Given the description of an element on the screen output the (x, y) to click on. 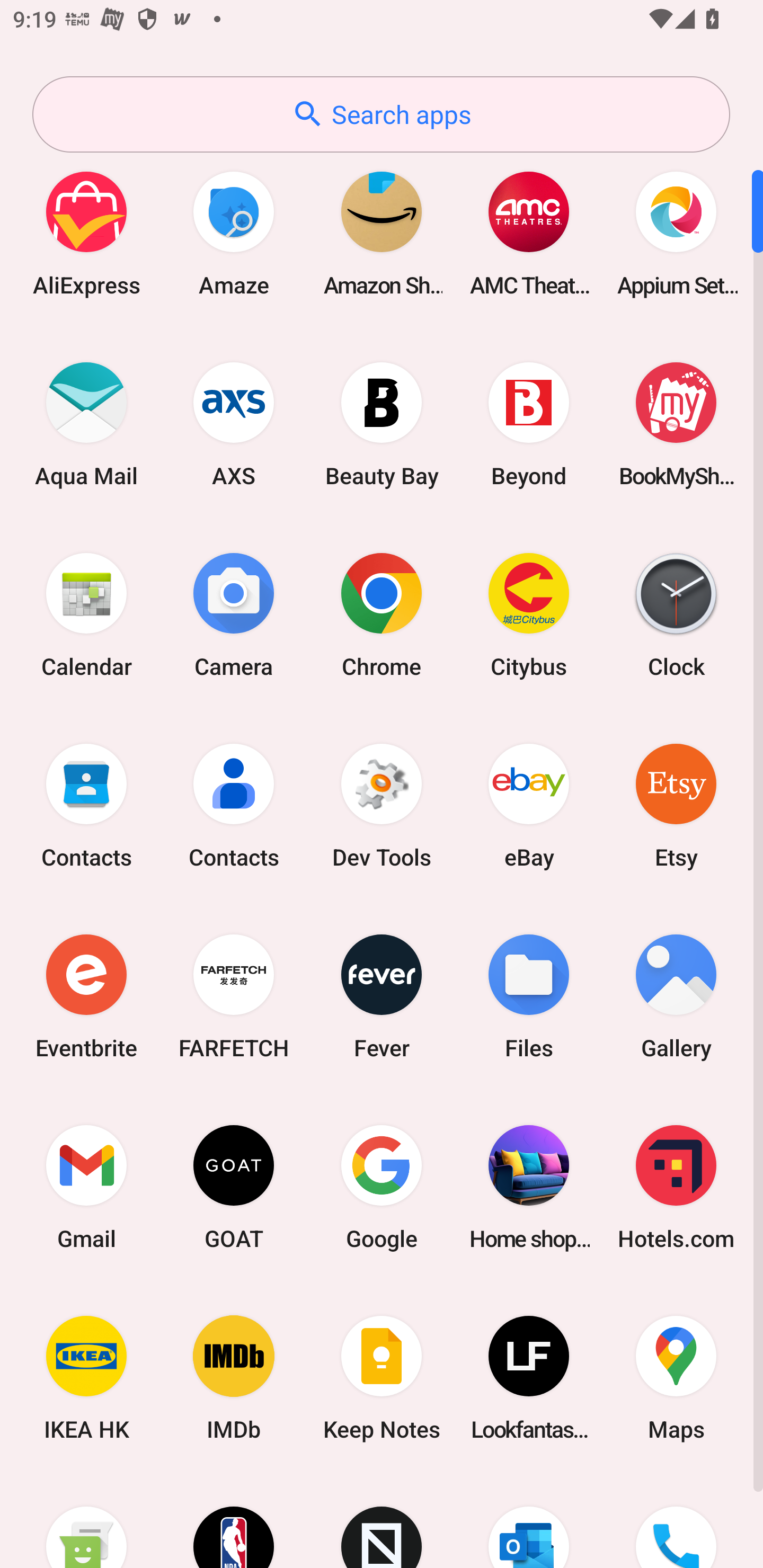
  Search apps (381, 114)
AliExpress (86, 233)
Amaze (233, 233)
Amazon Shopping (381, 233)
AMC Theatres (528, 233)
Appium Settings (676, 233)
Aqua Mail (86, 424)
AXS (233, 424)
Beauty Bay (381, 424)
Beyond (528, 424)
BookMyShow (676, 424)
Calendar (86, 614)
Camera (233, 614)
Chrome (381, 614)
Citybus (528, 614)
Clock (676, 614)
Contacts (86, 805)
Contacts (233, 805)
Dev Tools (381, 805)
eBay (528, 805)
Etsy (676, 805)
Eventbrite (86, 996)
FARFETCH (233, 996)
Fever (381, 996)
Files (528, 996)
Gallery (676, 996)
Gmail (86, 1186)
GOAT (233, 1186)
Google (381, 1186)
Home shopping (528, 1186)
Hotels.com (676, 1186)
IKEA HK (86, 1377)
IMDb (233, 1377)
Keep Notes (381, 1377)
Lookfantastic (528, 1377)
Maps (676, 1377)
